Given the description of an element on the screen output the (x, y) to click on. 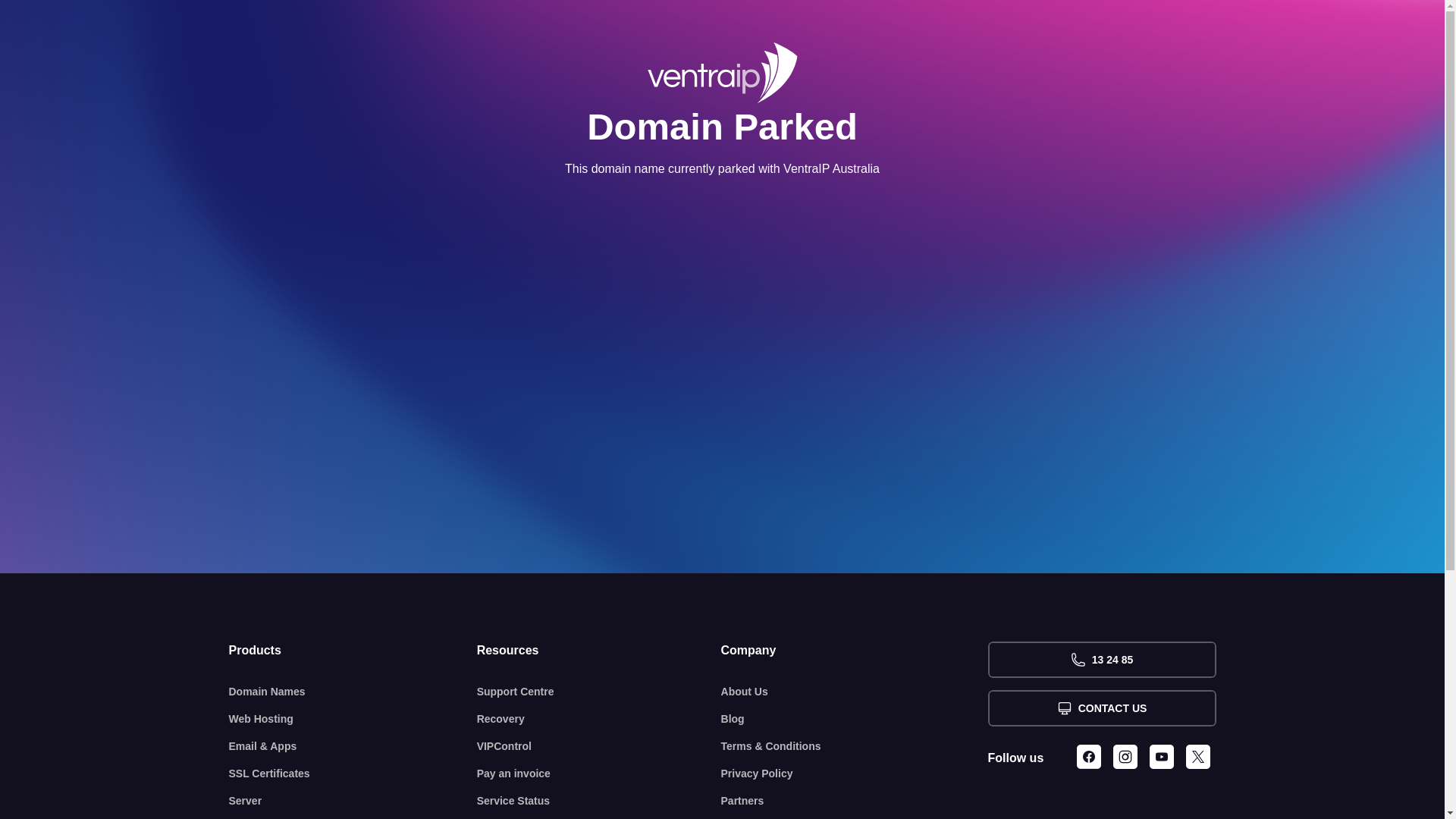
Domain Names Element type: text (352, 691)
Web Hosting Element type: text (352, 718)
Email & Apps Element type: text (352, 745)
Support Centre Element type: text (598, 691)
SSL Certificates Element type: text (352, 773)
Privacy Policy Element type: text (854, 773)
Recovery Element type: text (598, 718)
About Us Element type: text (854, 691)
Server Element type: text (352, 800)
13 24 85 Element type: text (1101, 659)
Service Status Element type: text (598, 800)
VIPControl Element type: text (598, 745)
CONTACT US Element type: text (1101, 708)
Pay an invoice Element type: text (598, 773)
Terms & Conditions Element type: text (854, 745)
Partners Element type: text (854, 800)
Blog Element type: text (854, 718)
